Given the description of an element on the screen output the (x, y) to click on. 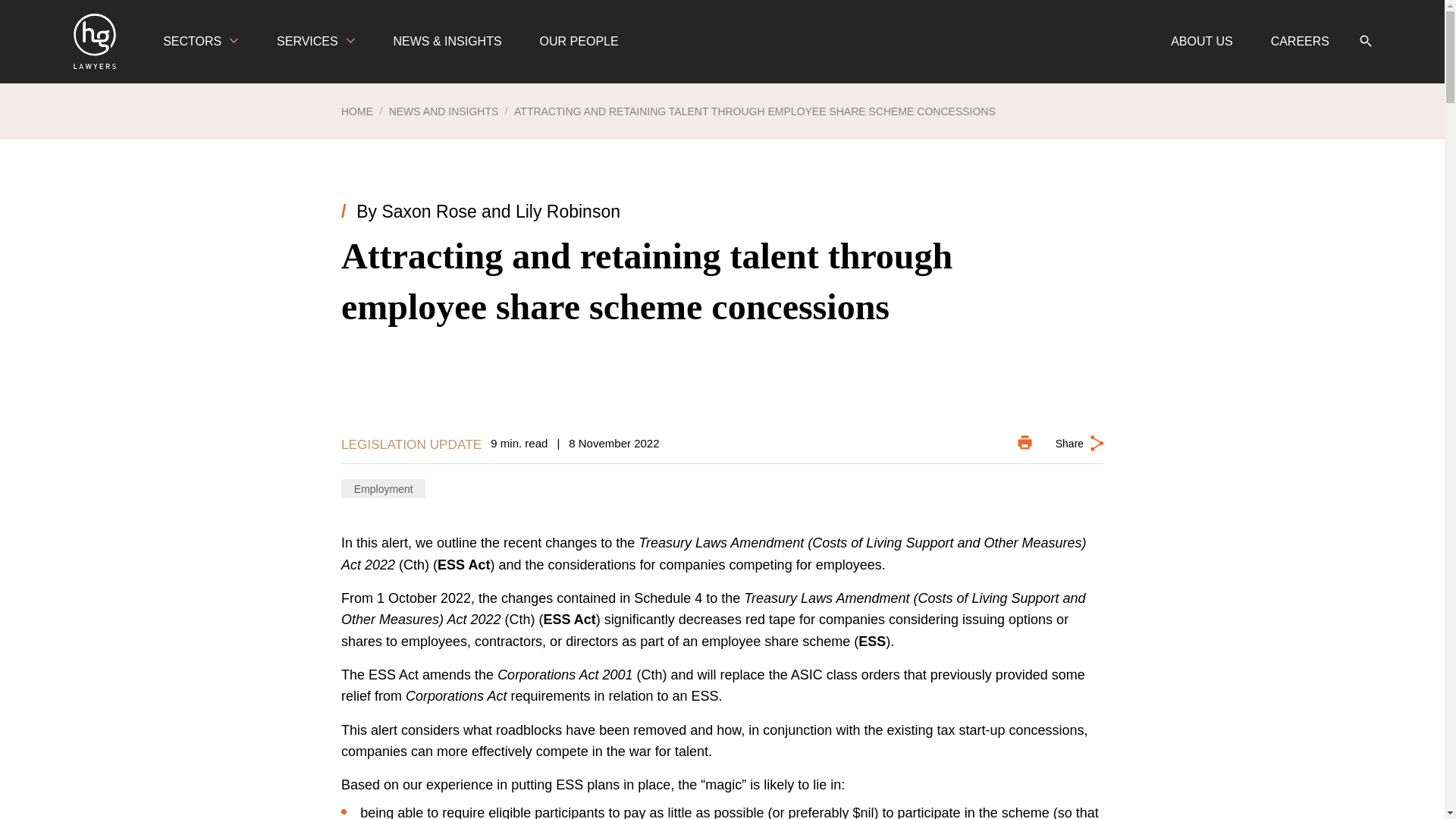
SERVICES (315, 41)
ABOUT US (1201, 41)
OUR PEOPLE (579, 41)
CAREERS (1299, 41)
SECTORS (200, 41)
